Given the description of an element on the screen output the (x, y) to click on. 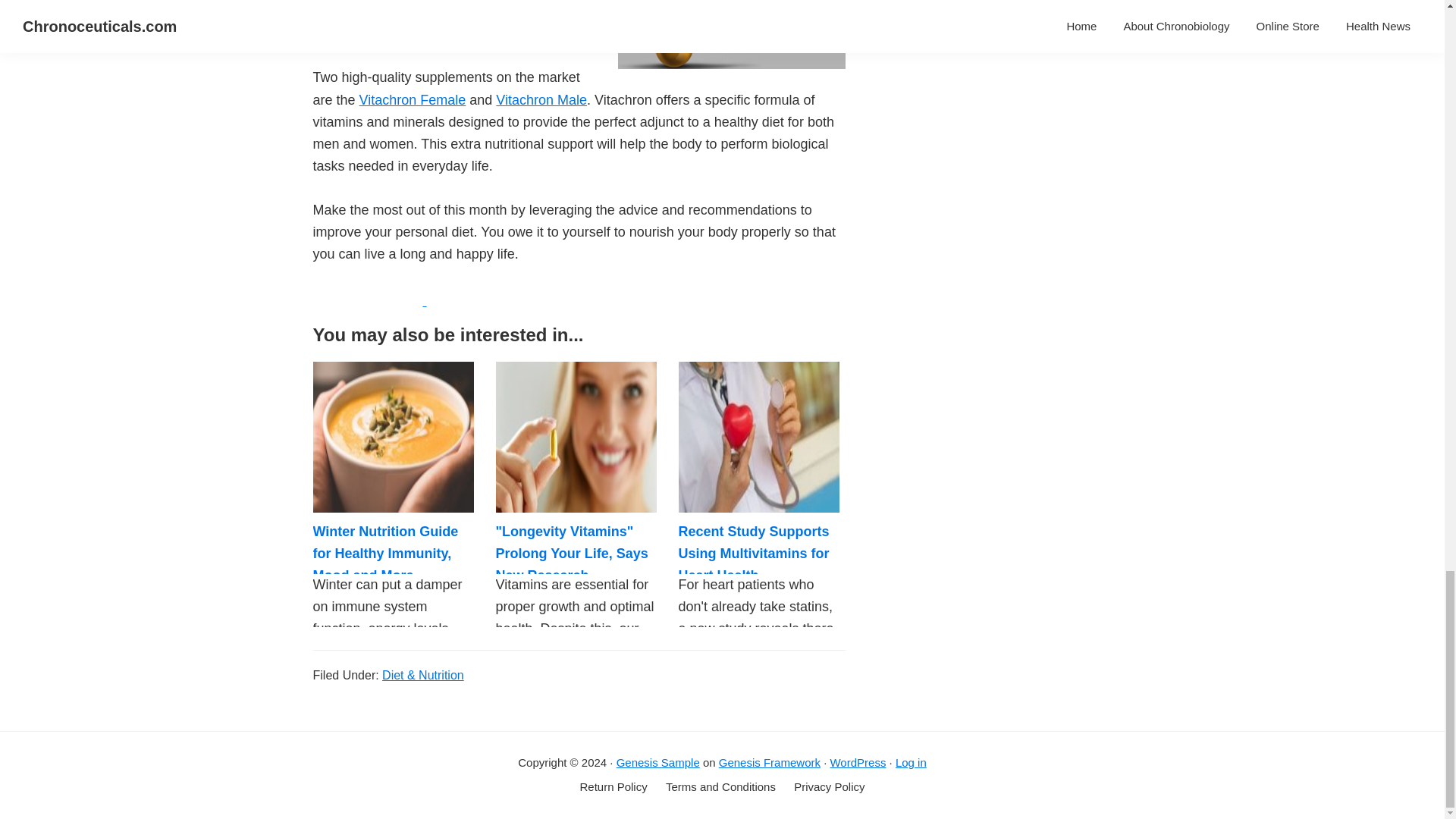
Vitachron Male (541, 99)
Genesis Framework (770, 762)
"Longevity Vitamins" Prolong Your Life, Says New Research (571, 553)
Winter Nutrition Guide for Healthy Immunity, Mood and More (385, 553)
Vitachron Female (412, 99)
Privacy Policy (828, 787)
Recent Study Supports Using Multivitamins for Heart Health (753, 553)
Log in (910, 762)
Return Policy (612, 787)
